Given the description of an element on the screen output the (x, y) to click on. 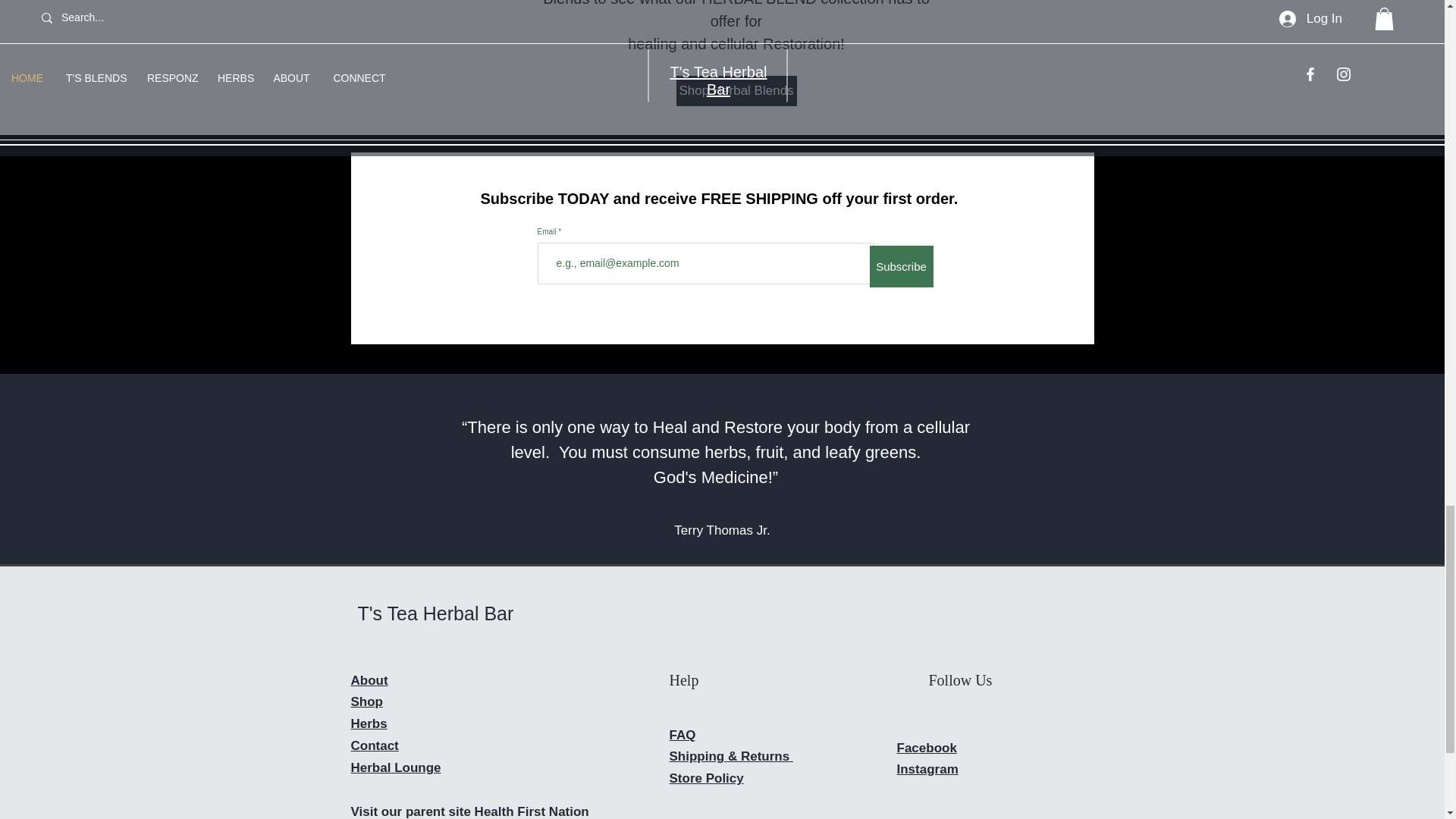
About (368, 680)
Shop Herbal Blends (736, 91)
Herbs (368, 723)
Shop (366, 701)
Subscribe (901, 266)
